Given the description of an element on the screen output the (x, y) to click on. 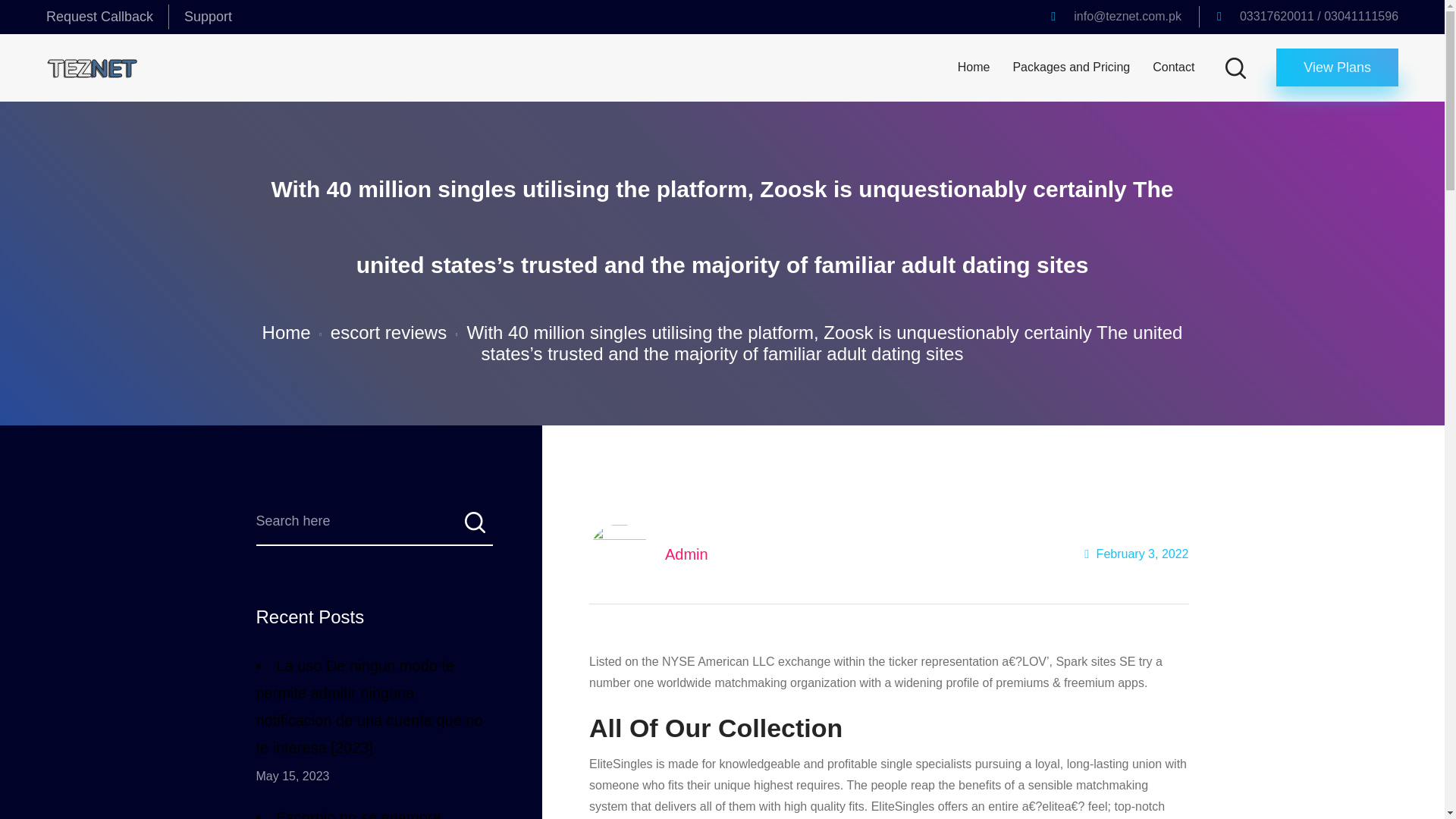
Home (286, 332)
Contact (1173, 67)
Packages and Pricing (1071, 67)
View all posts by admin (686, 554)
Go (473, 527)
Request Callback (99, 16)
Go (473, 527)
Search here (374, 527)
Admin (686, 554)
Go (1194, 66)
Home (973, 67)
escort reviews (388, 332)
View Plans (1336, 67)
Support (207, 16)
